Given the description of an element on the screen output the (x, y) to click on. 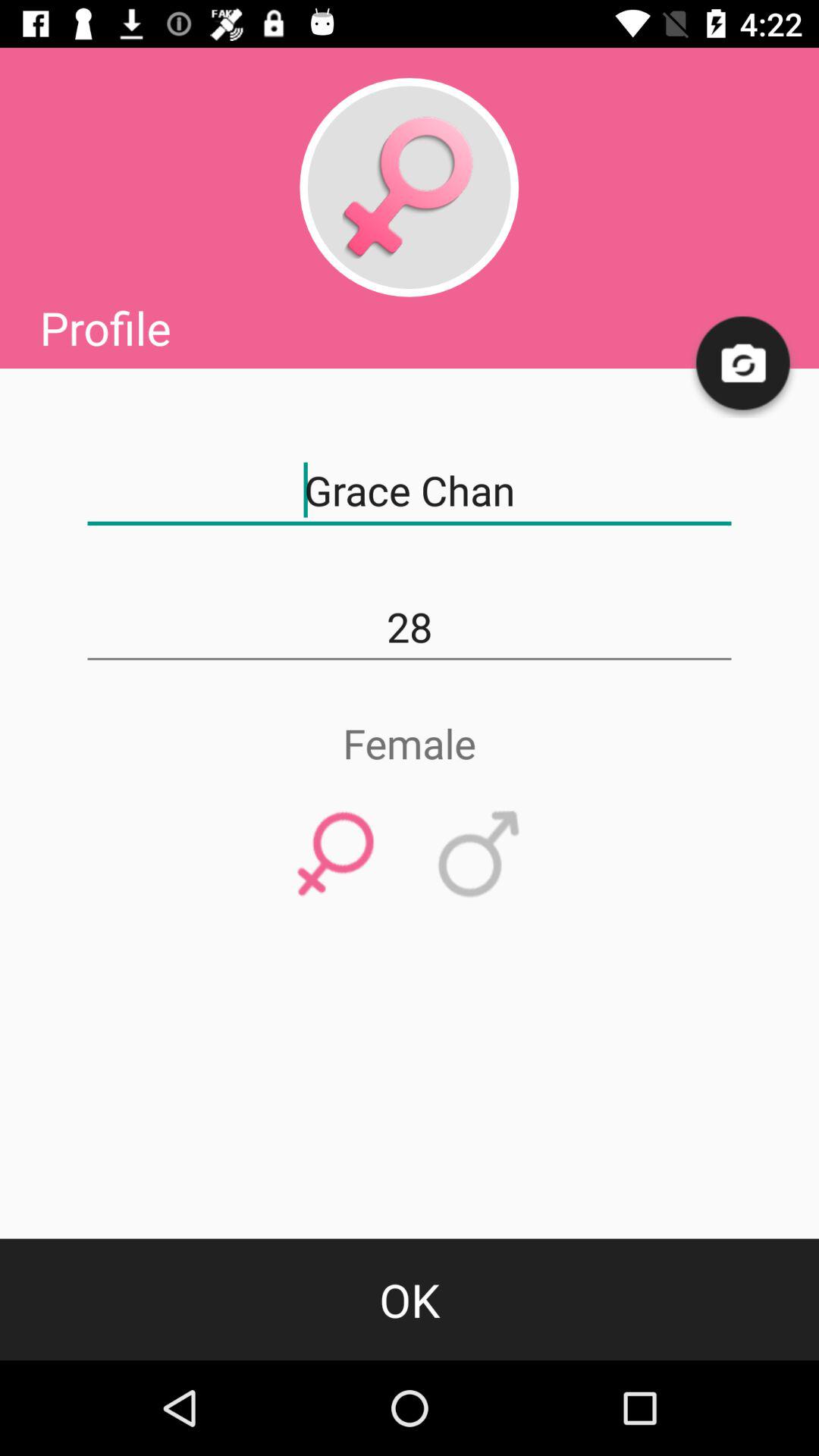
scroll to the ok (409, 1299)
